Given the description of an element on the screen output the (x, y) to click on. 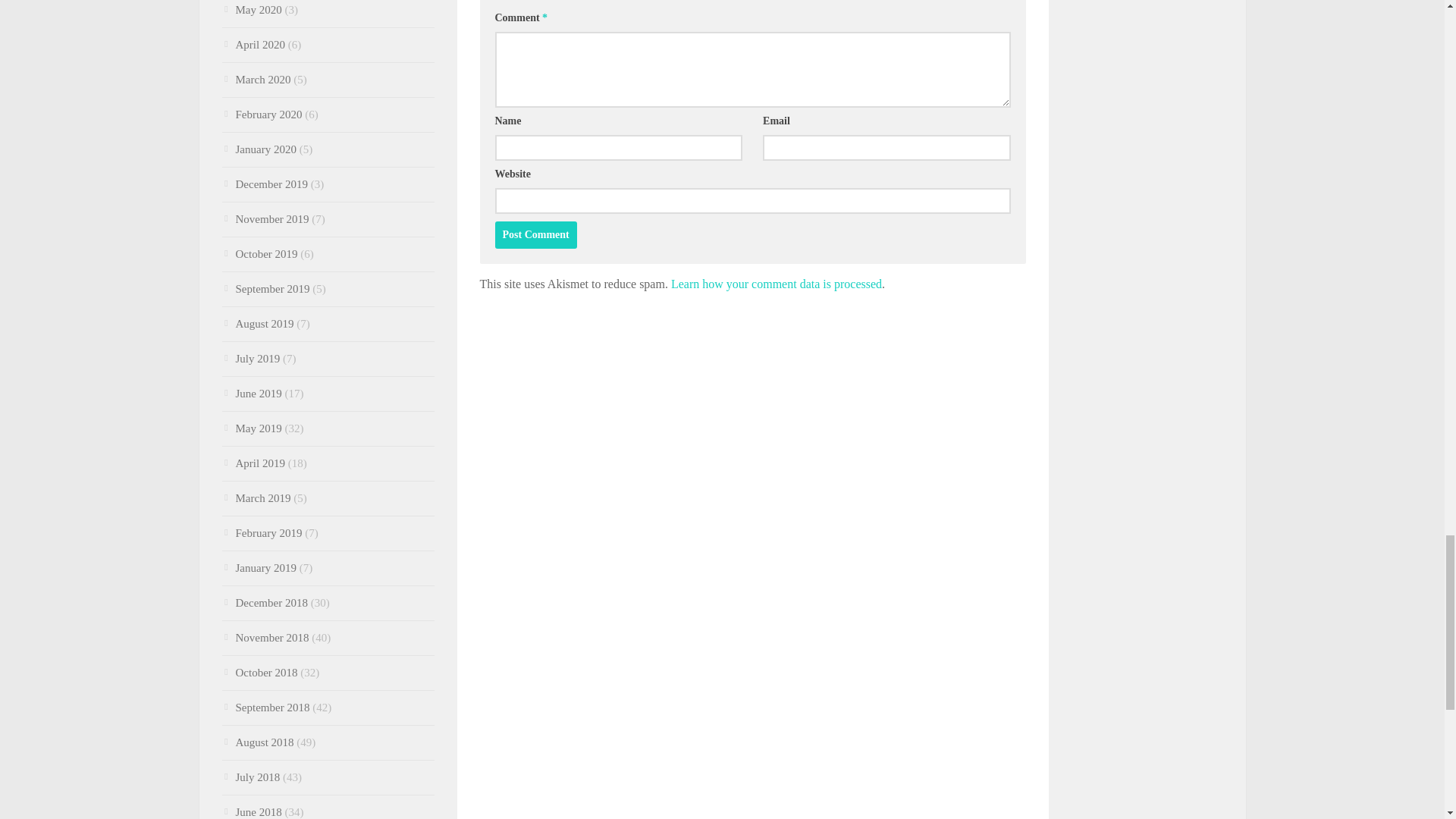
Post Comment (535, 234)
Post Comment (535, 234)
Learn how your comment data is processed (776, 283)
